Given the description of an element on the screen output the (x, y) to click on. 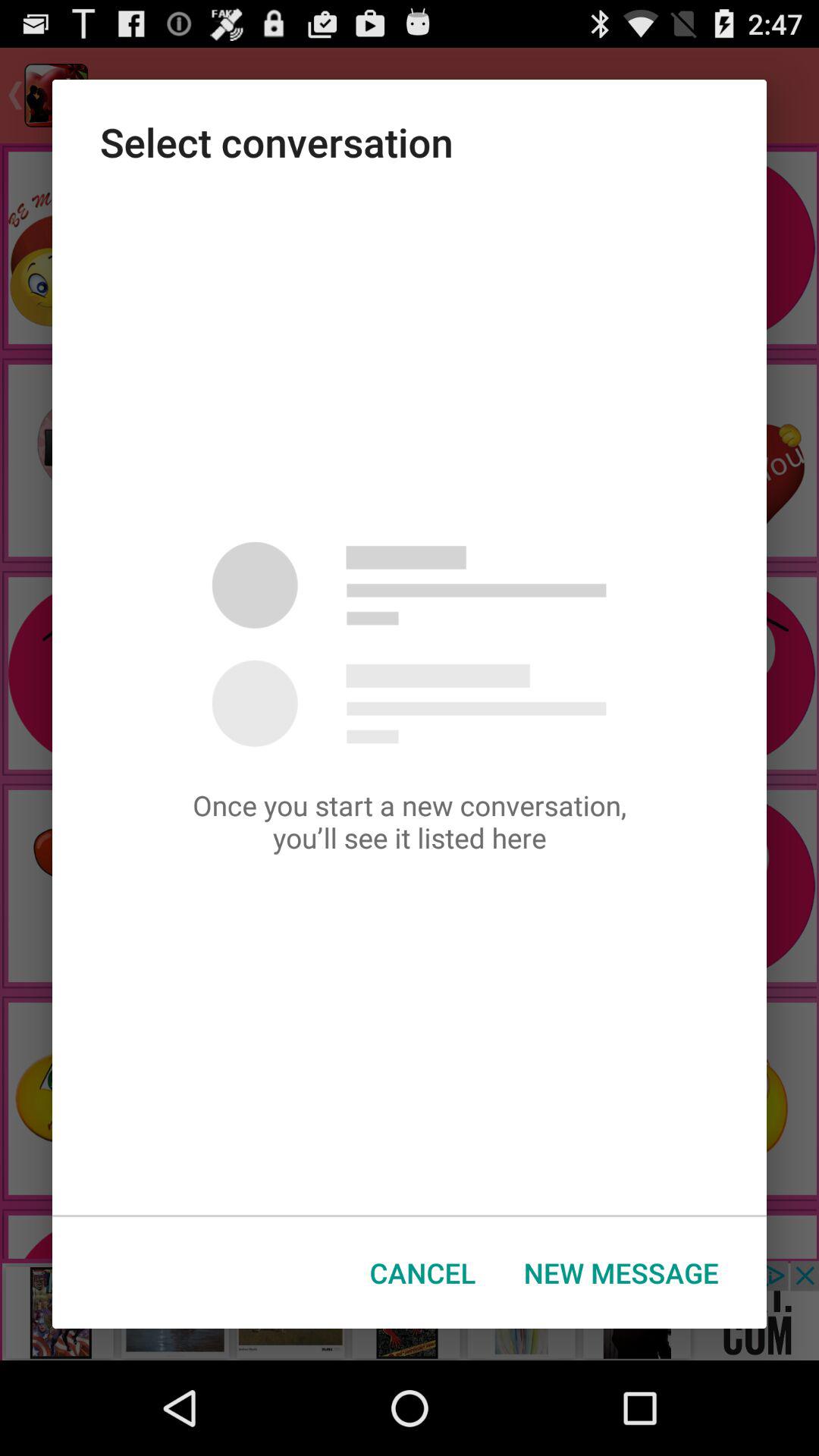
choose the new message item (620, 1272)
